Given the description of an element on the screen output the (x, y) to click on. 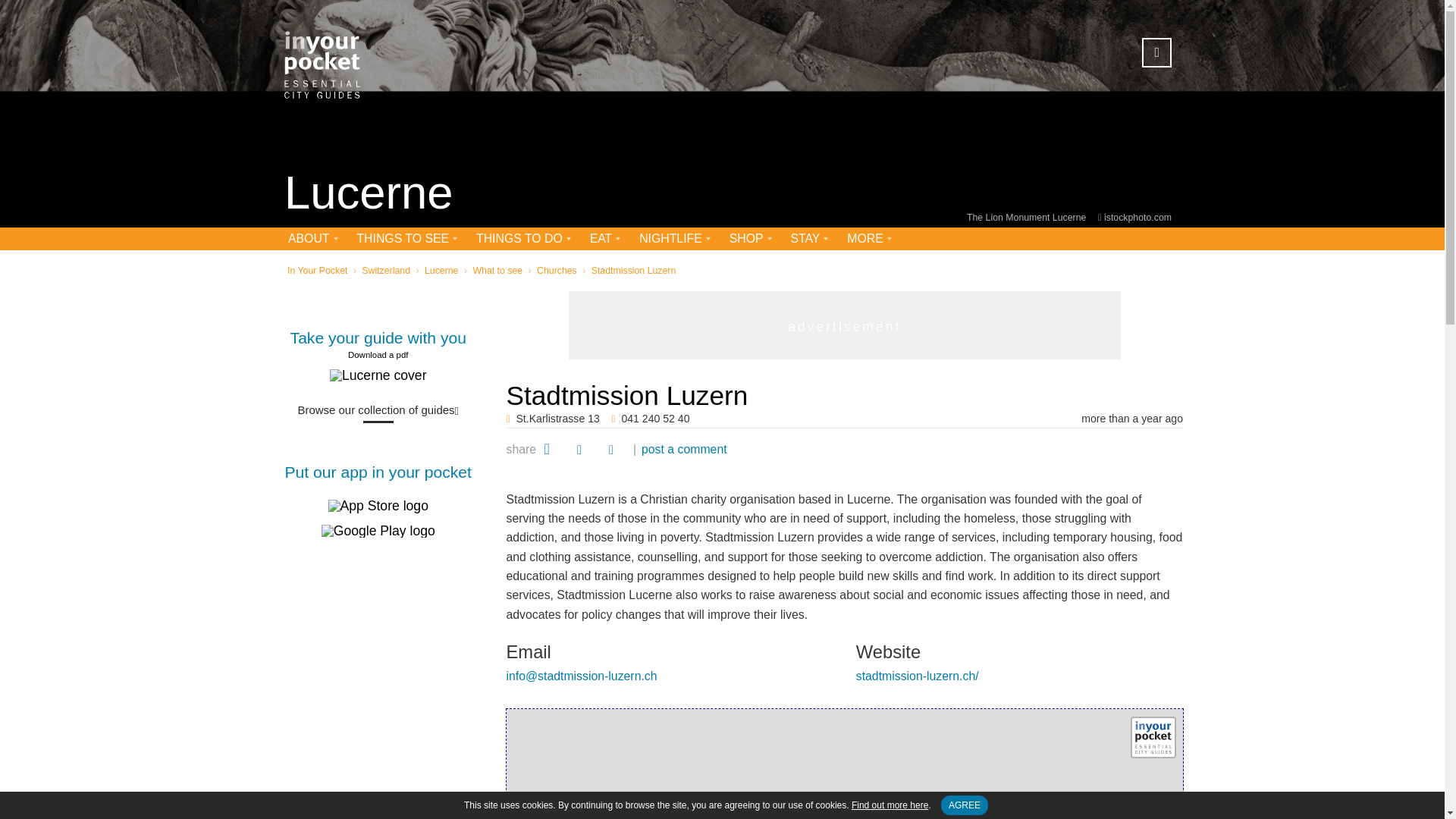
The Lion Monument Lucerne (1027, 217)
post a comment (684, 448)
Lucerne (367, 194)
istockphoto.com (1137, 217)
